Given the description of an element on the screen output the (x, y) to click on. 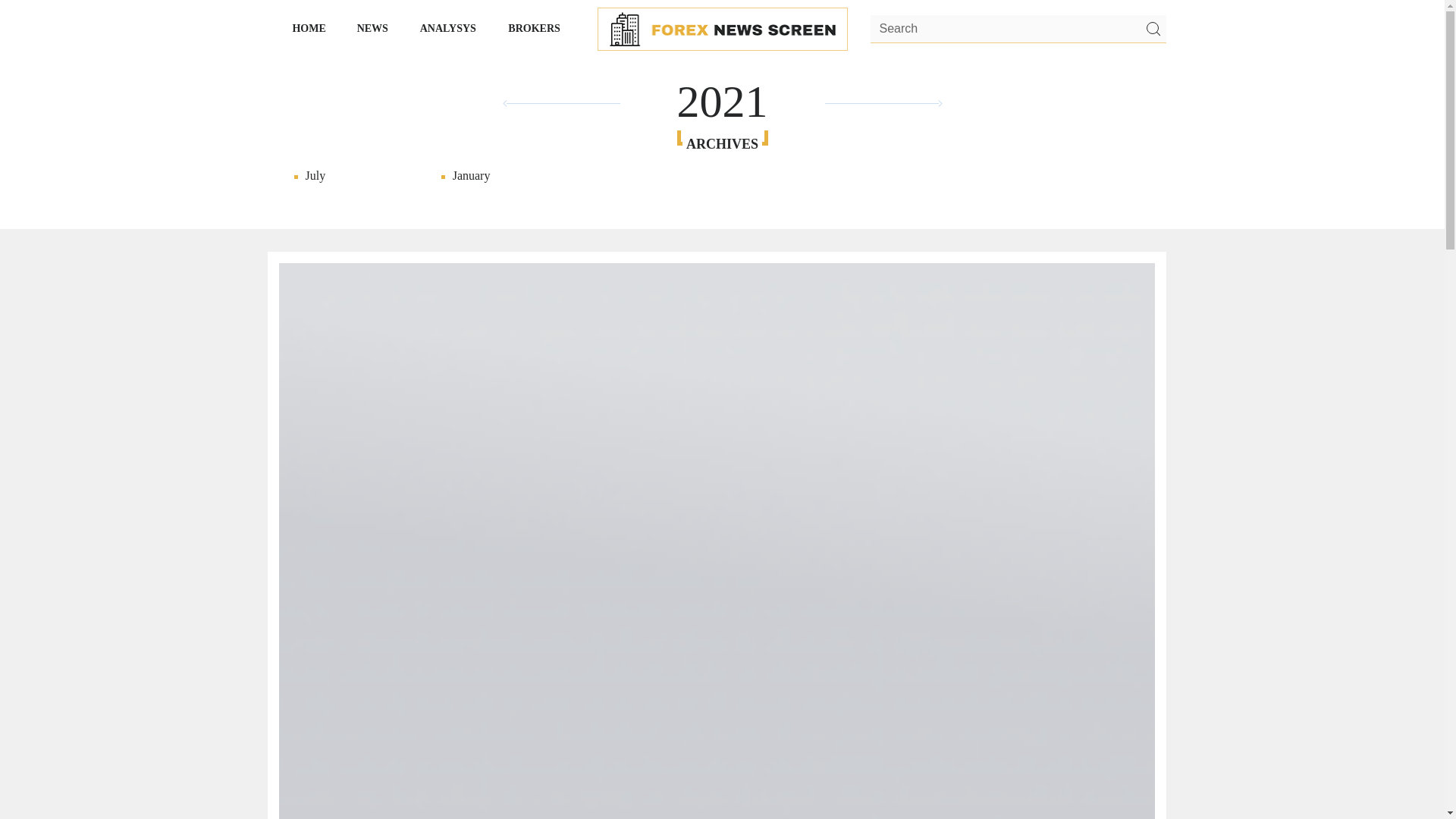
January (1089, 191)
ANALYSYS (448, 28)
NEWS (372, 28)
September (501, 191)
March (942, 191)
November (1240, 191)
HOME (309, 28)
October (501, 175)
BROKERS (535, 28)
December (354, 175)
